Given the description of an element on the screen output the (x, y) to click on. 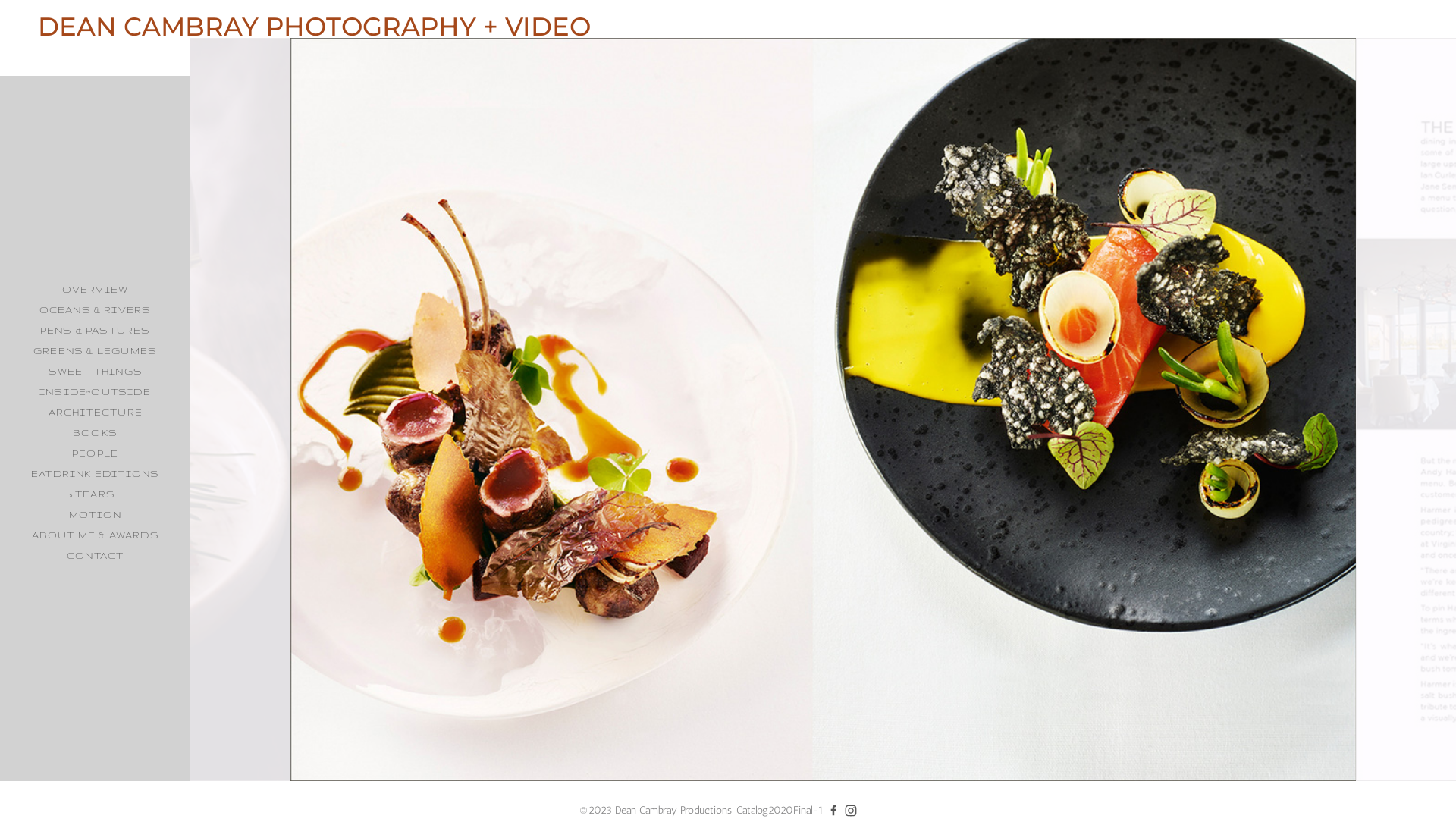
OVERVIEW Element type: text (95, 289)
MOTION Element type: text (95, 514)
13 OF 75 Element type: text (195, 801)
INQUIRY Element type: text (145, 801)
GREENS & LEGUMES Element type: text (94, 350)
BOOKS Element type: text (94, 432)
SWEET THINGS Element type: text (95, 371)
FULLSCREEN Element type: text (70, 801)
OCEANS & RIVERS Element type: text (95, 309)
PEOPLE Element type: text (95, 453)
EATDRINK EDITIONS Element type: text (95, 473)
INSIDE~OUTSIDE Element type: text (94, 391)
ARCHITECTURE Element type: text (95, 412)
ABOUT ME & AWARDS Element type: text (95, 534)
CONTACT Element type: text (94, 555)
TEARS Element type: text (95, 493)
PENS & PASTURES Element type: text (94, 330)
